Given the description of an element on the screen output the (x, y) to click on. 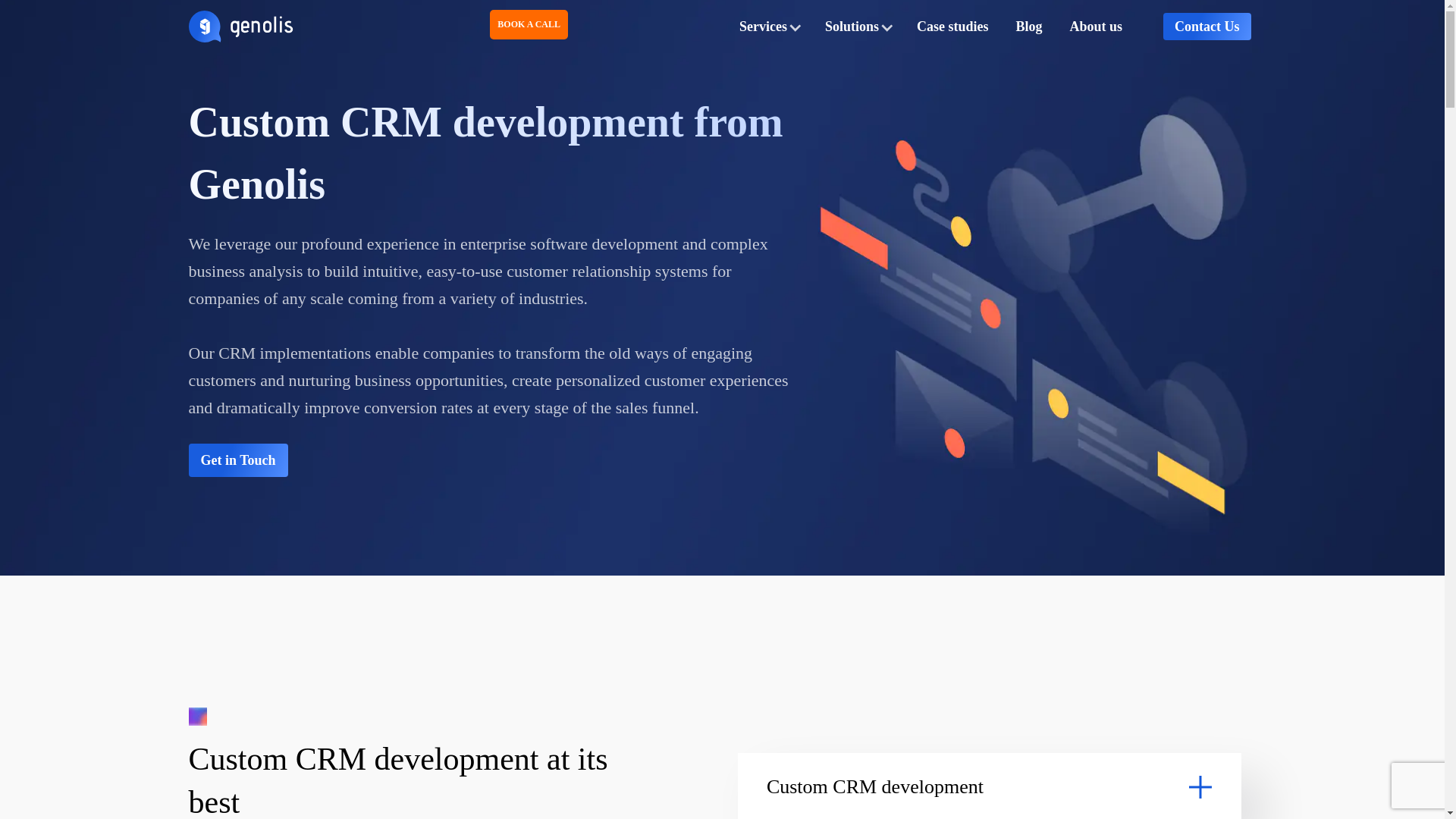
Contact Us (1206, 26)
Get in Touch (236, 459)
About us (1096, 26)
Case studies (952, 26)
Solutions (857, 26)
Services (768, 26)
Blog (1028, 26)
BOOK A CALL (537, 22)
